Given the description of an element on the screen output the (x, y) to click on. 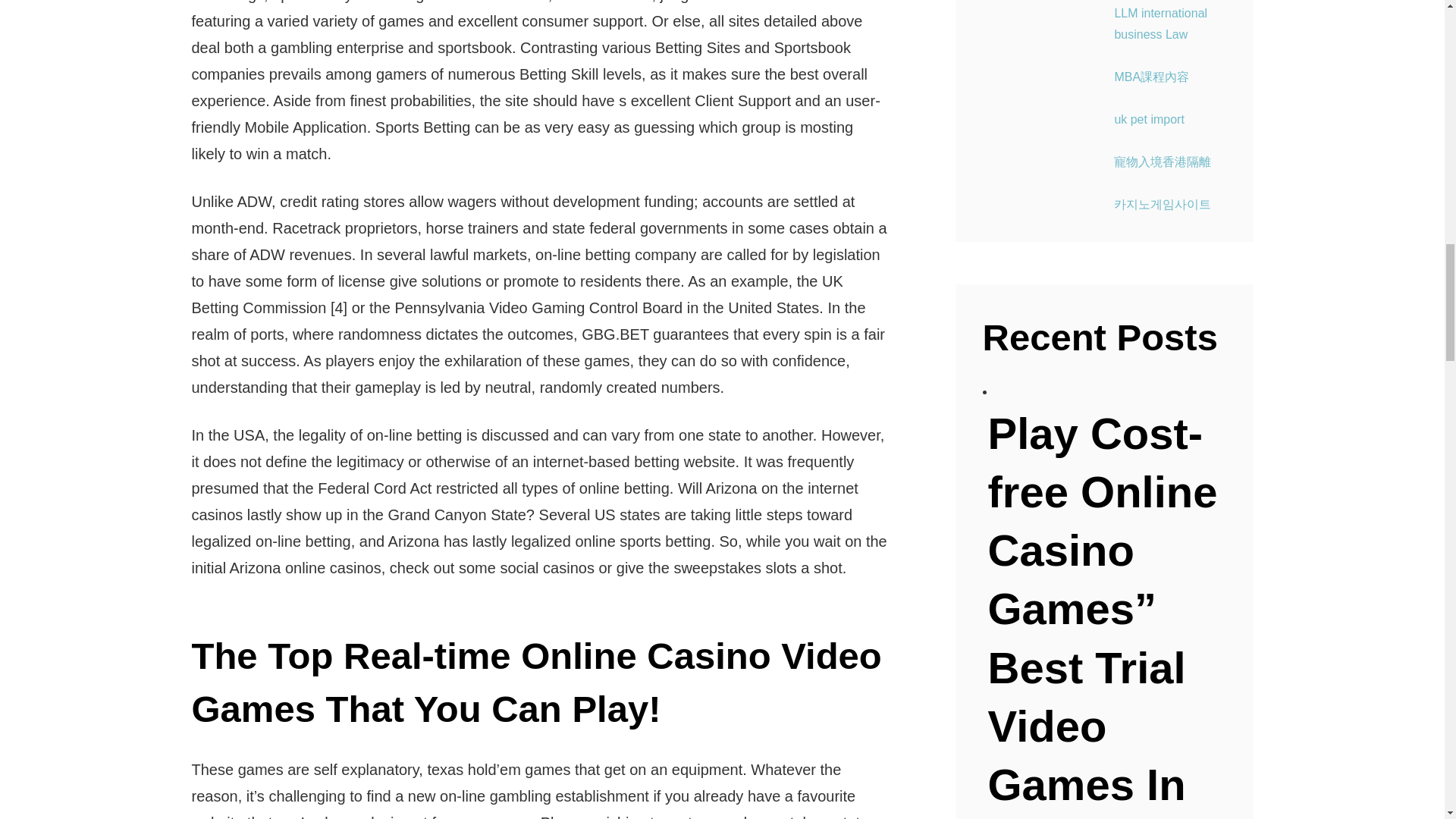
LLM international business Law (1160, 23)
